Given the description of an element on the screen output the (x, y) to click on. 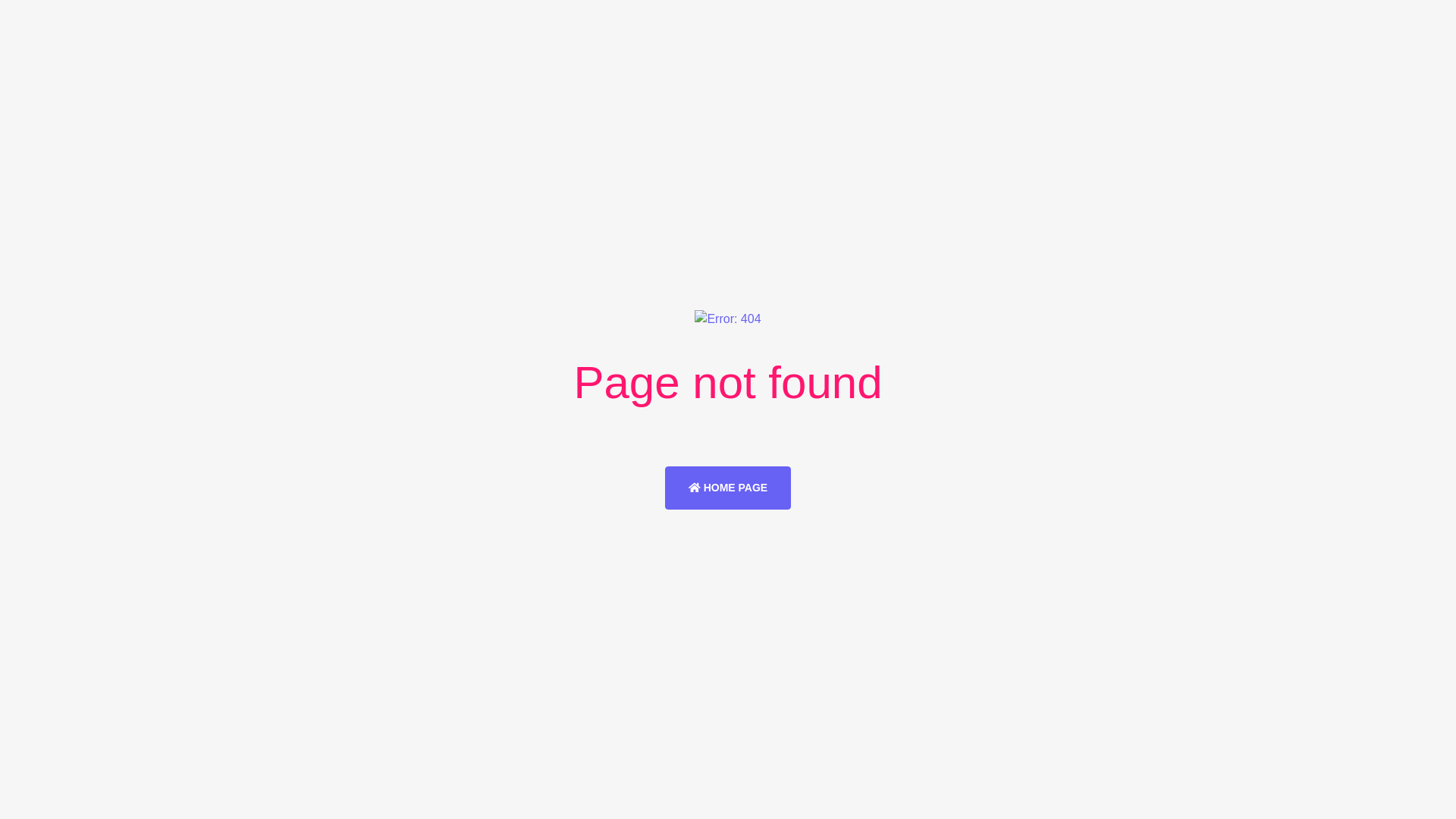
HOME PAGE Element type: text (727, 486)
